Given the description of an element on the screen output the (x, y) to click on. 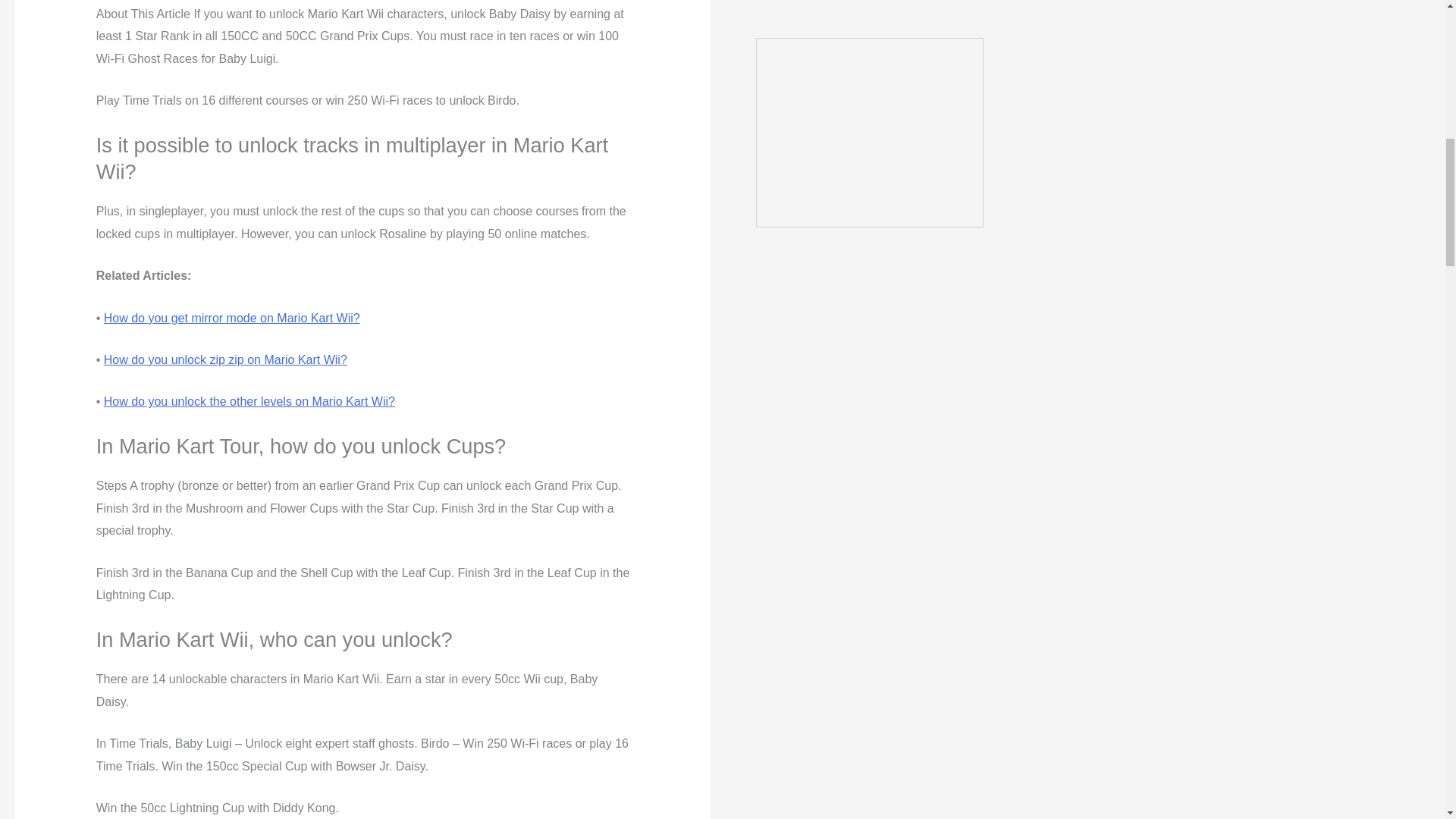
How do you unlock zip zip on Mario Kart Wii? (225, 359)
How do you get mirror mode on Mario Kart Wii? (231, 318)
How do you unlock the other levels on Mario Kart Wii? (248, 400)
